Given the description of an element on the screen output the (x, y) to click on. 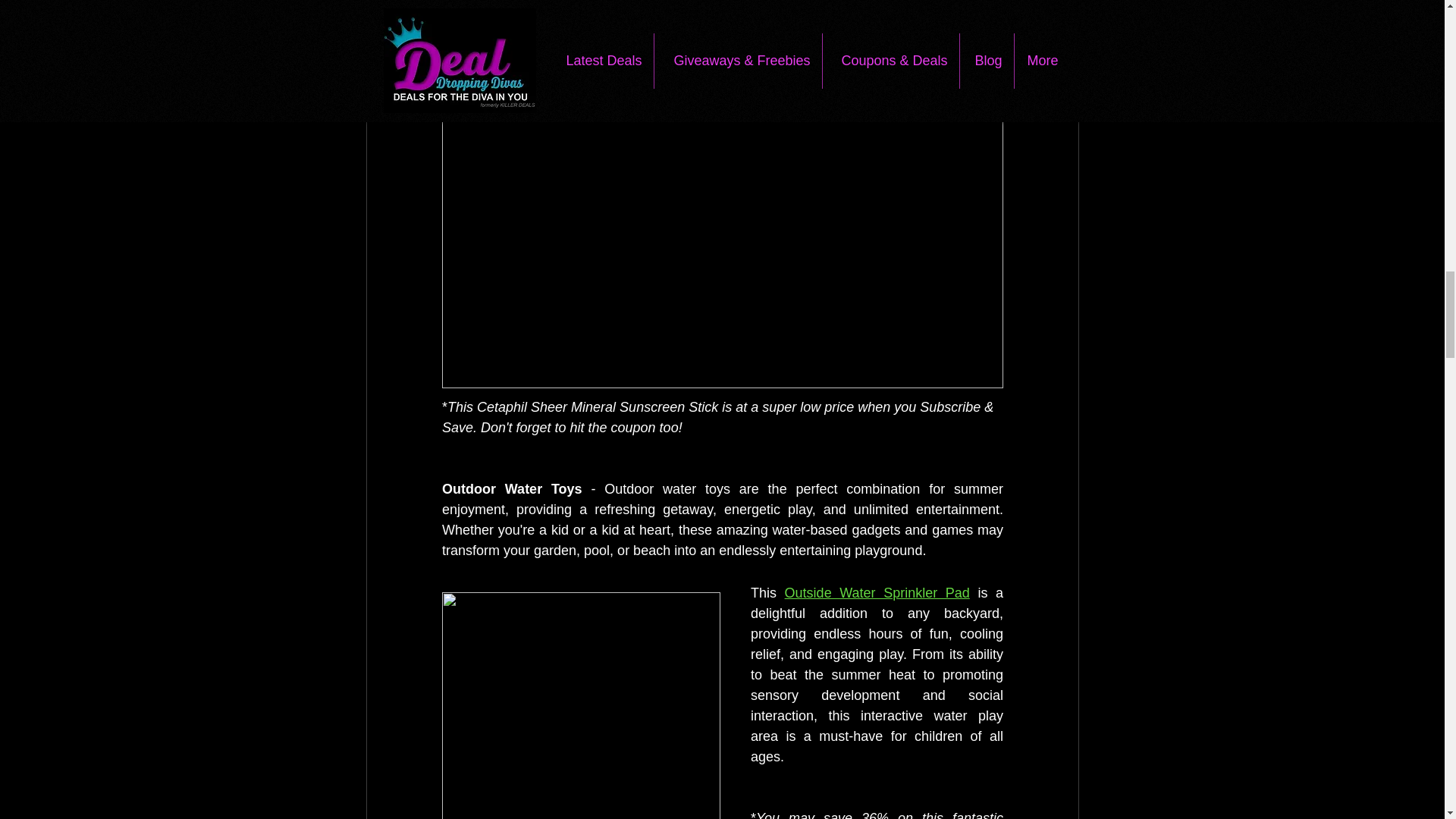
Outside Water Sprinkler Pad (876, 592)
